Given the description of an element on the screen output the (x, y) to click on. 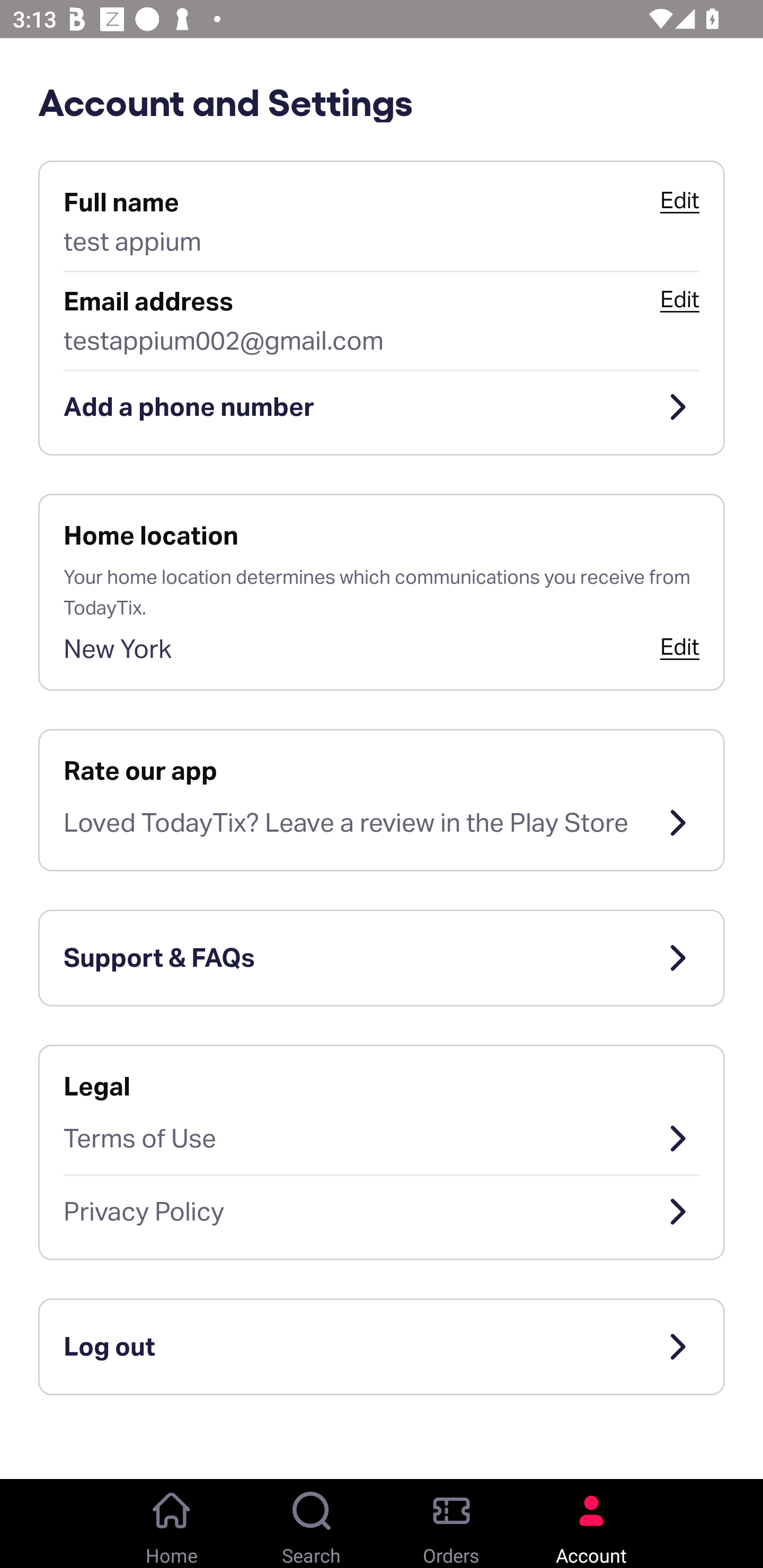
Edit (679, 200)
Edit (679, 299)
Add a phone number (381, 406)
Edit (679, 646)
Loved TodayTix? Leave a review in the Play Store (381, 822)
Support & FAQs (381, 957)
Terms of Use (381, 1137)
Privacy Policy (381, 1211)
Log out (381, 1346)
Home (171, 1523)
Search (311, 1523)
Orders (451, 1523)
